Given the description of an element on the screen output the (x, y) to click on. 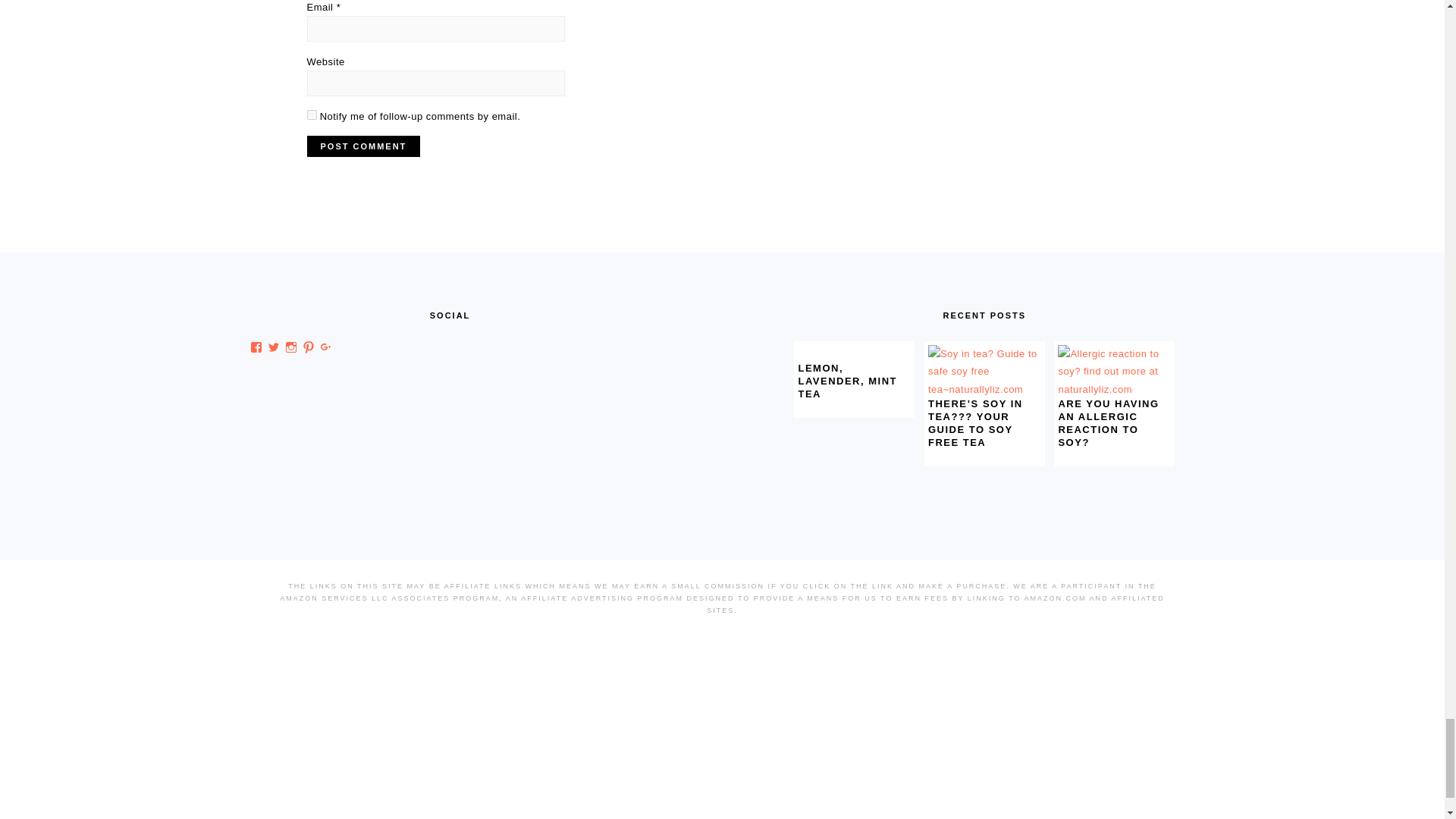
Are you having an allergic reaction to soy? (1114, 389)
Post Comment (362, 146)
subscribe (310, 114)
